Given the description of an element on the screen output the (x, y) to click on. 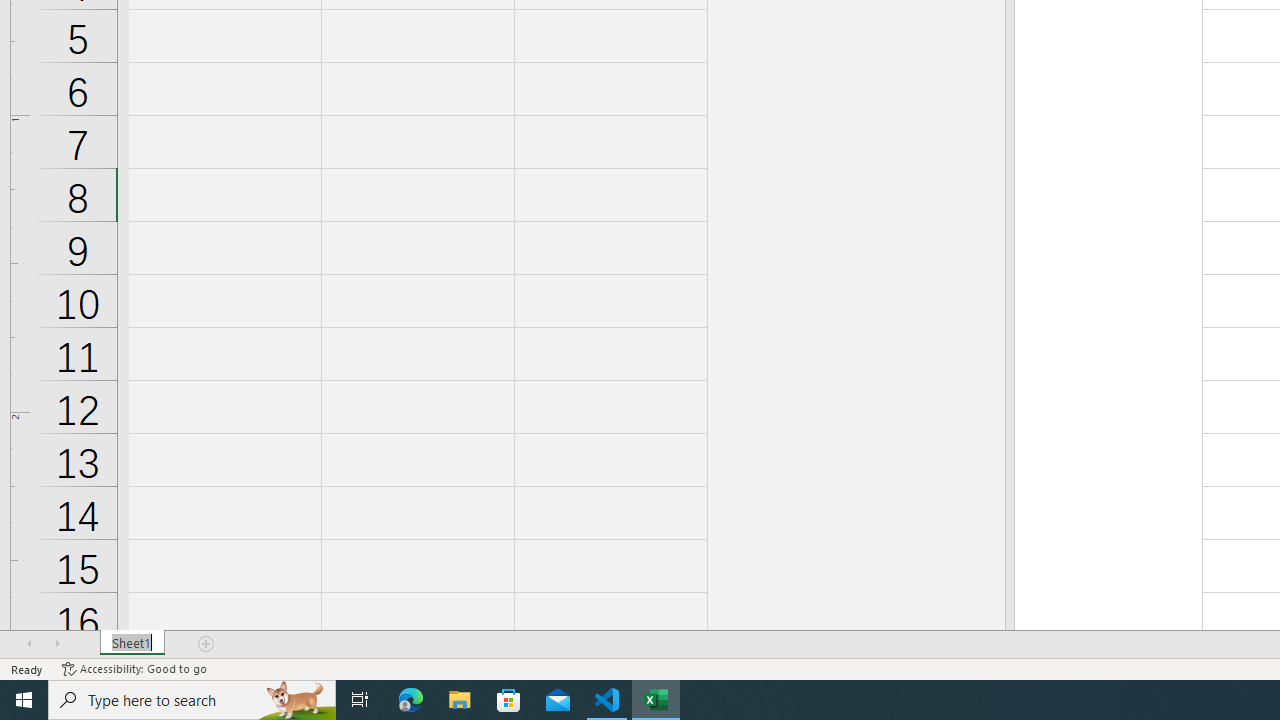
Sheet Tab (132, 644)
